Given the description of an element on the screen output the (x, y) to click on. 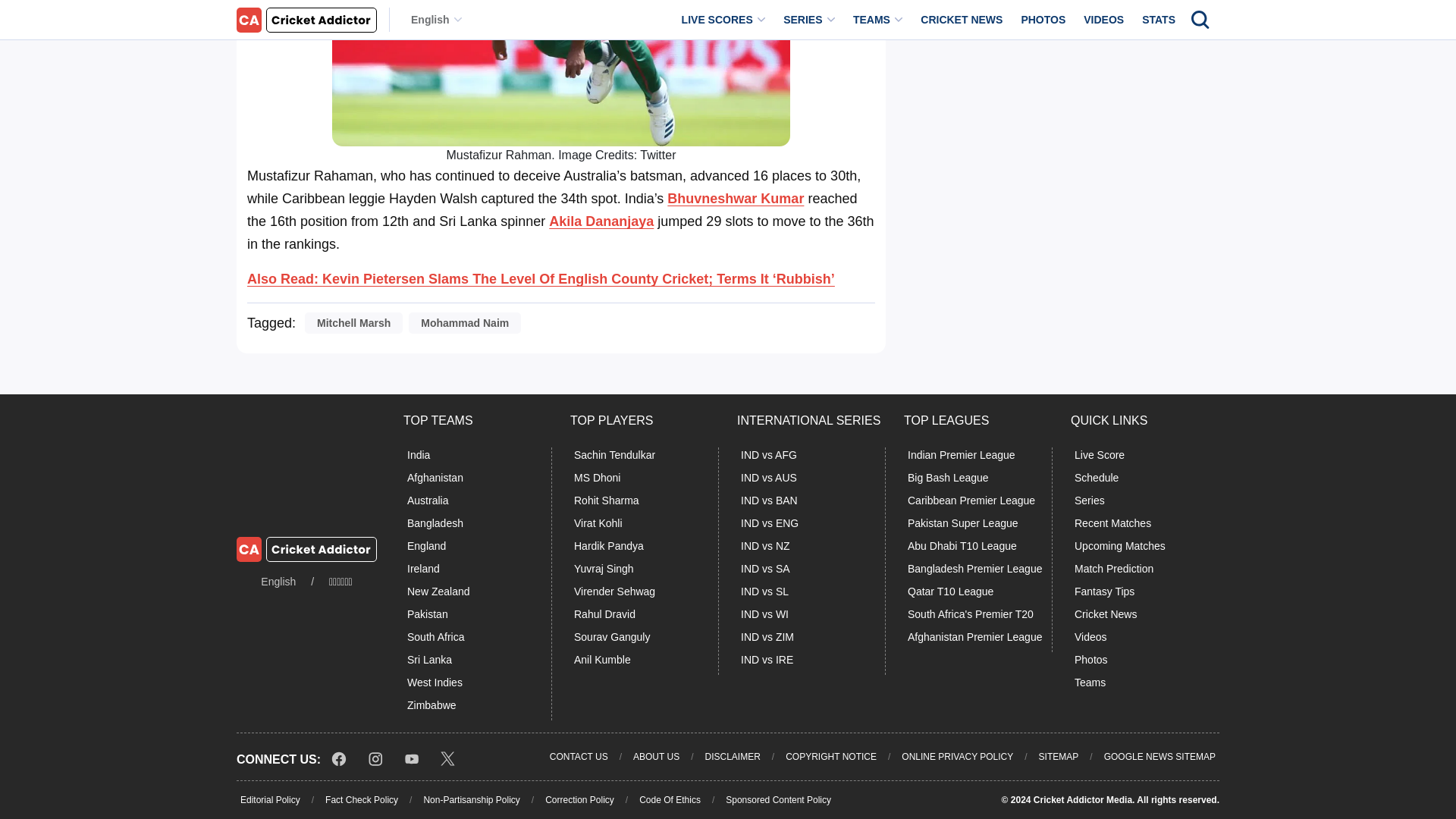
Akila Dananjaya (600, 221)
Bhuvneshwar Kumar (734, 198)
